Given the description of an element on the screen output the (x, y) to click on. 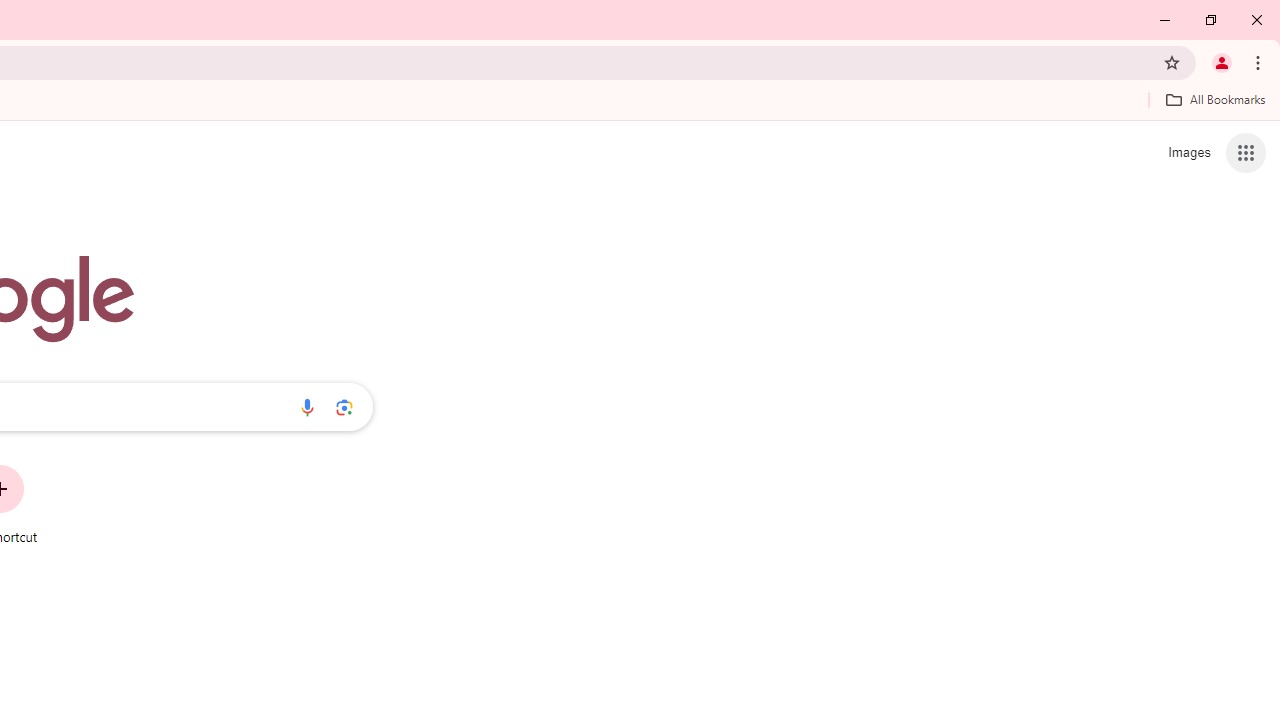
Search by image (344, 407)
Search for Images  (1188, 152)
Search by voice (307, 407)
